Given the description of an element on the screen output the (x, y) to click on. 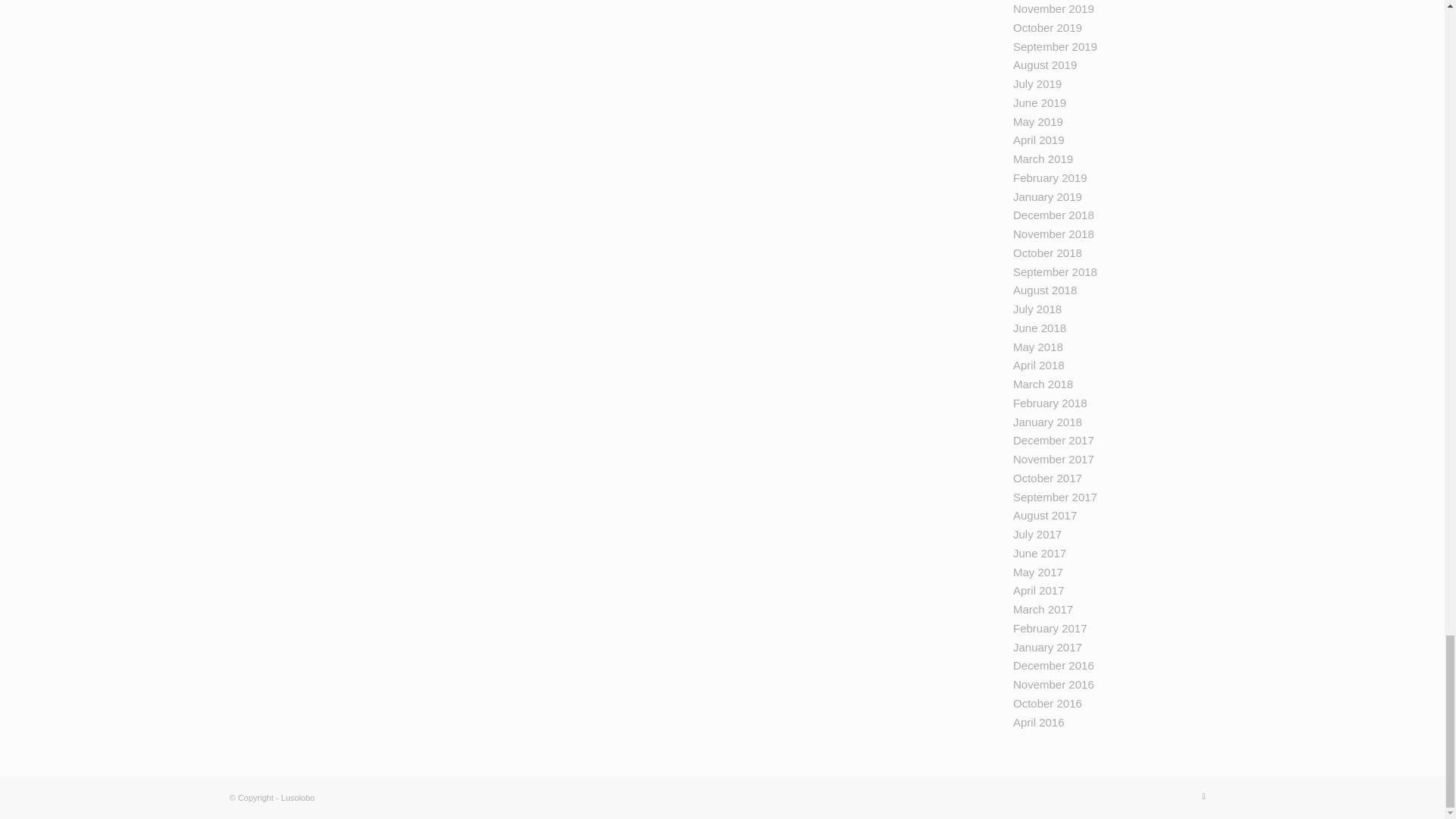
Twitter (1203, 795)
